Given the description of an element on the screen output the (x, y) to click on. 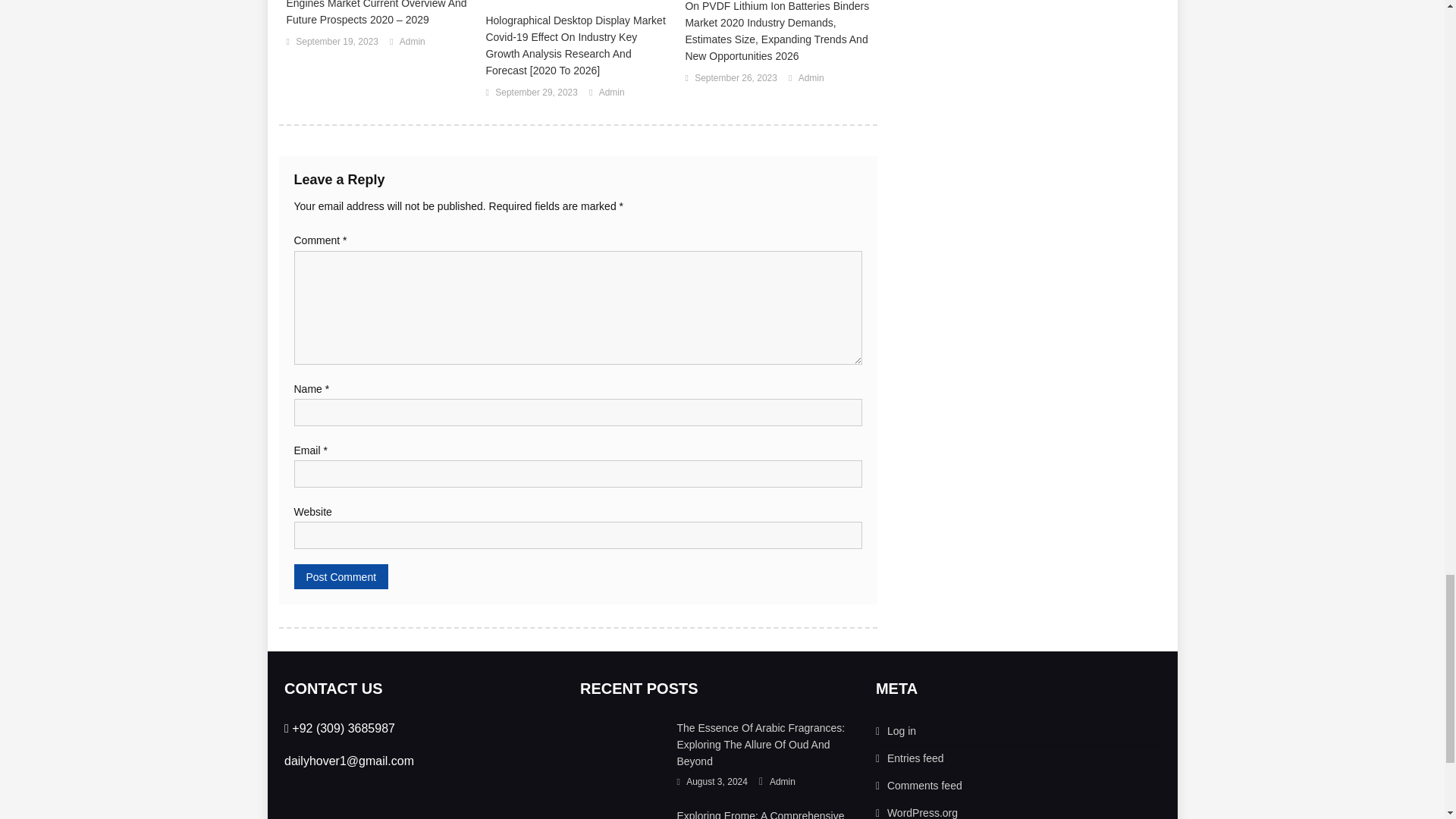
Admin (411, 42)
September 19, 2023 (336, 42)
Post Comment (341, 576)
